Given the description of an element on the screen output the (x, y) to click on. 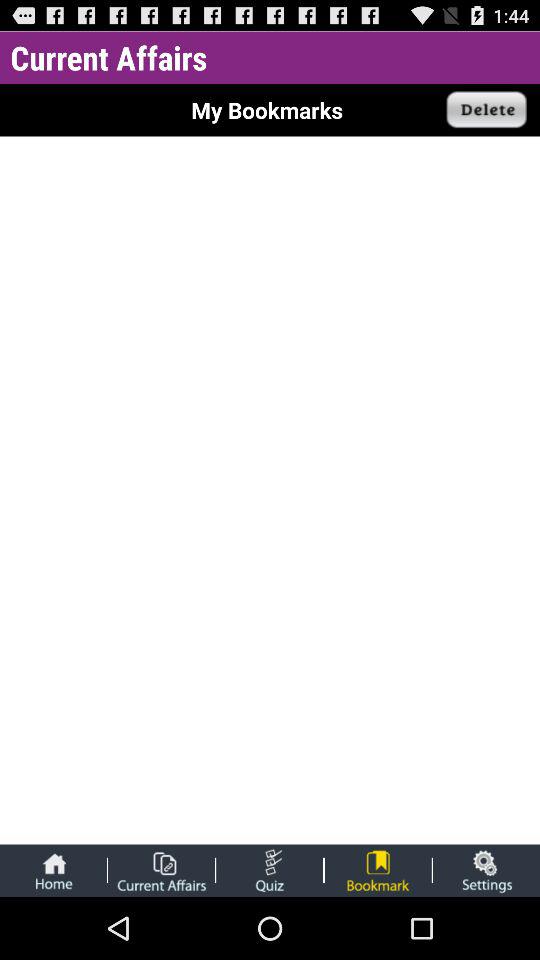
create quiz (269, 870)
